Given the description of an element on the screen output the (x, y) to click on. 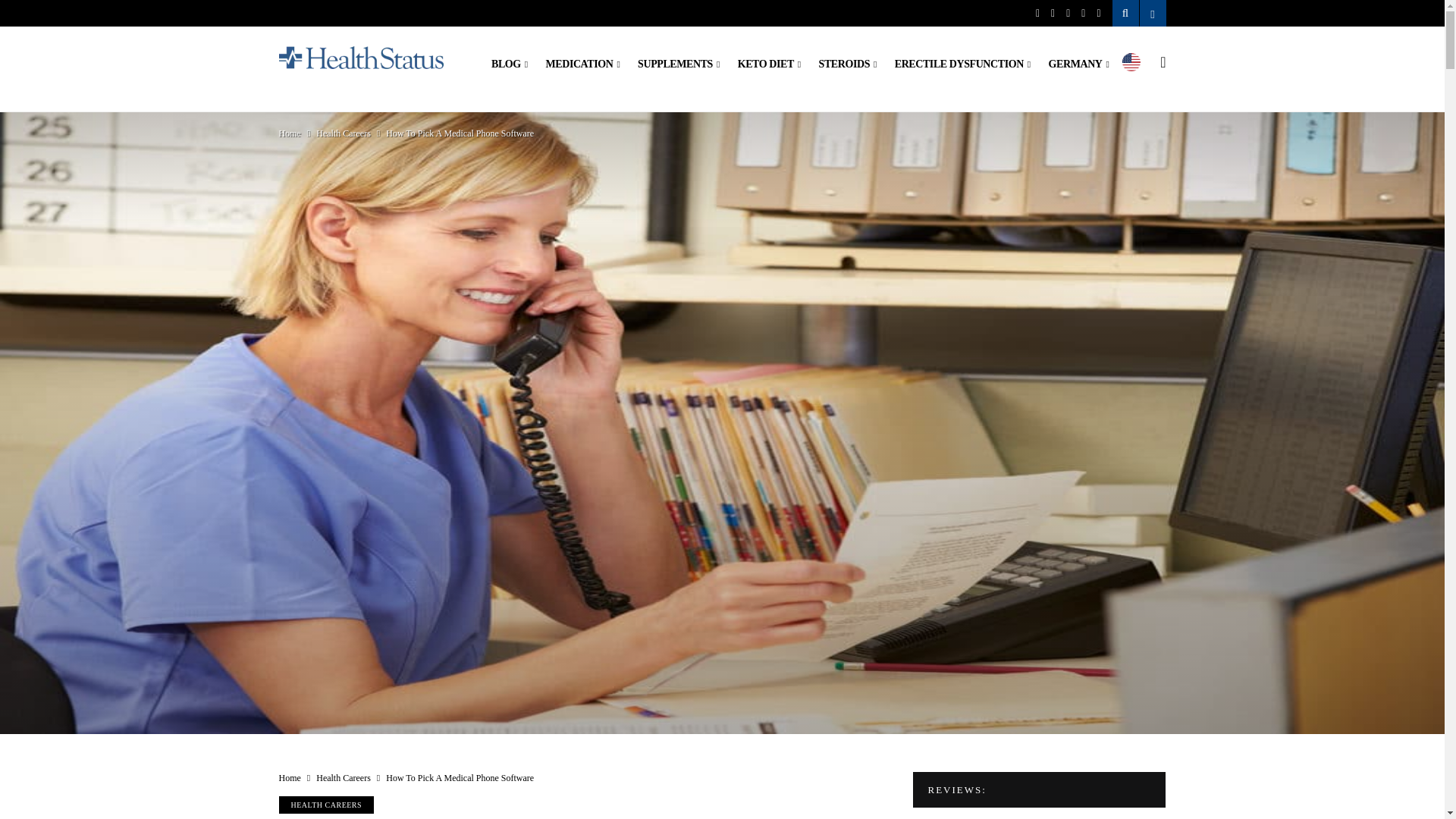
MEDICATION (582, 64)
